Given the description of an element on the screen output the (x, y) to click on. 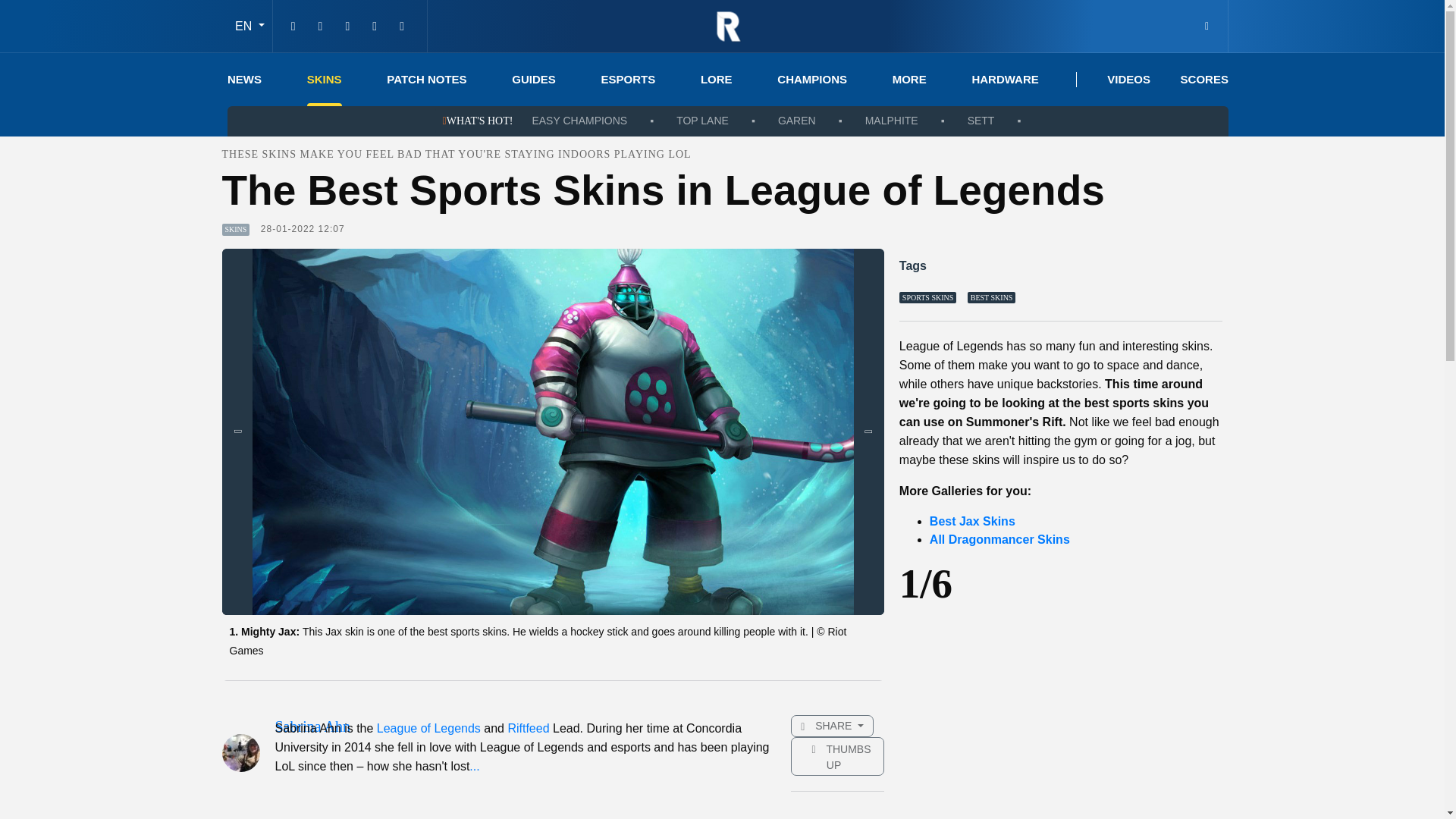
Hardware (1004, 79)
ESPORTS (628, 79)
Patch Notes (426, 79)
CHAMPIONS (812, 79)
Esports (628, 79)
PATCH NOTES (426, 79)
GAREN (797, 121)
TOP LANE (702, 121)
SCORES (1204, 79)
EN (249, 26)
Champions (812, 79)
MALPHITE (891, 121)
EASY CHAMPIONS (579, 121)
SETT (981, 121)
HARDWARE (1004, 79)
